Given the description of an element on the screen output the (x, y) to click on. 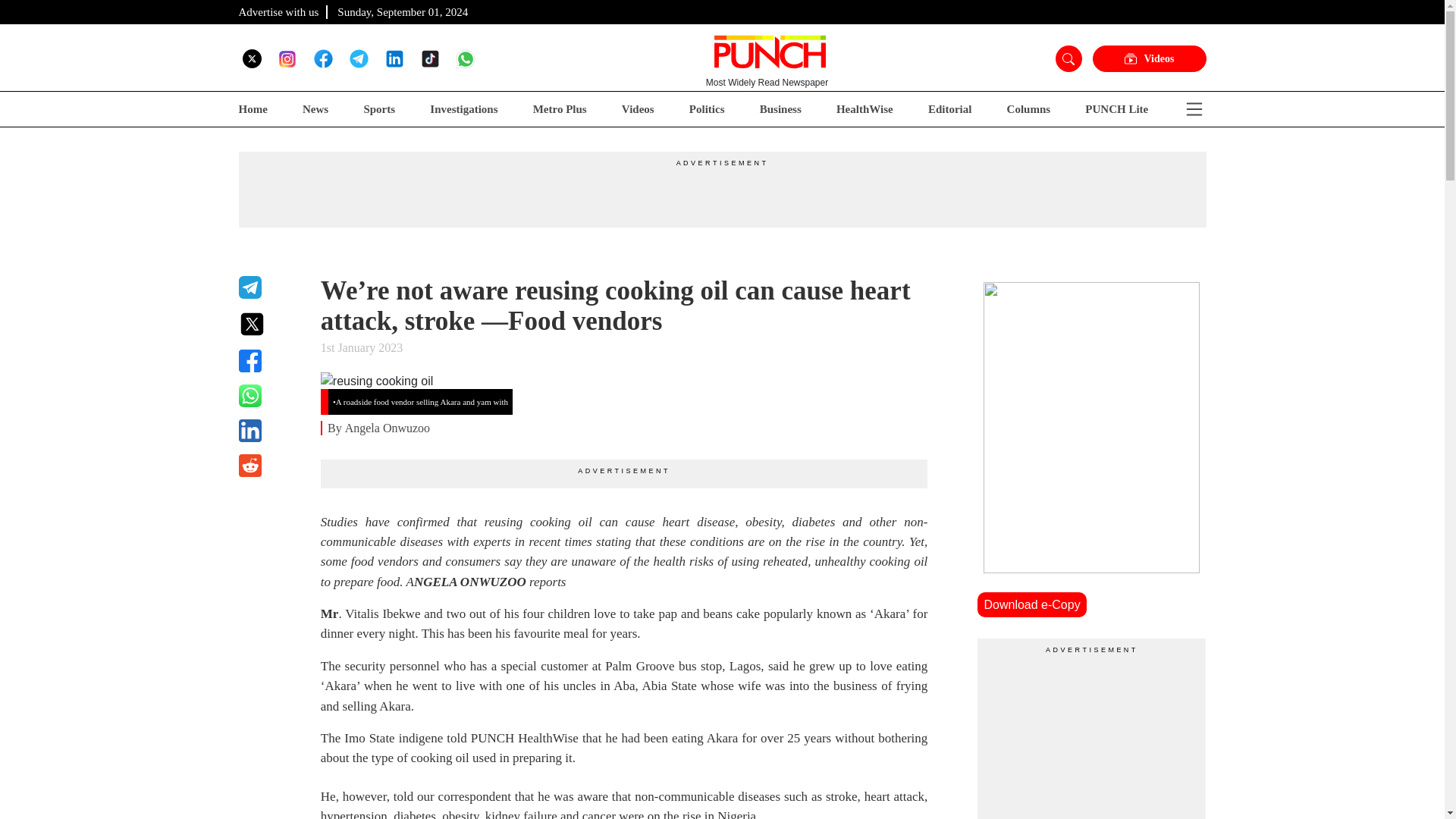
Advertise with us (278, 11)
Share on Facbook (269, 360)
Videos (637, 109)
Follow us on Linkedin (395, 58)
Sunday, September 01, 2024 (402, 11)
Share on Twitter (269, 324)
Share on Reddit (269, 465)
Business (781, 109)
Share on Linkedin (269, 430)
News (315, 109)
